Given the description of an element on the screen output the (x, y) to click on. 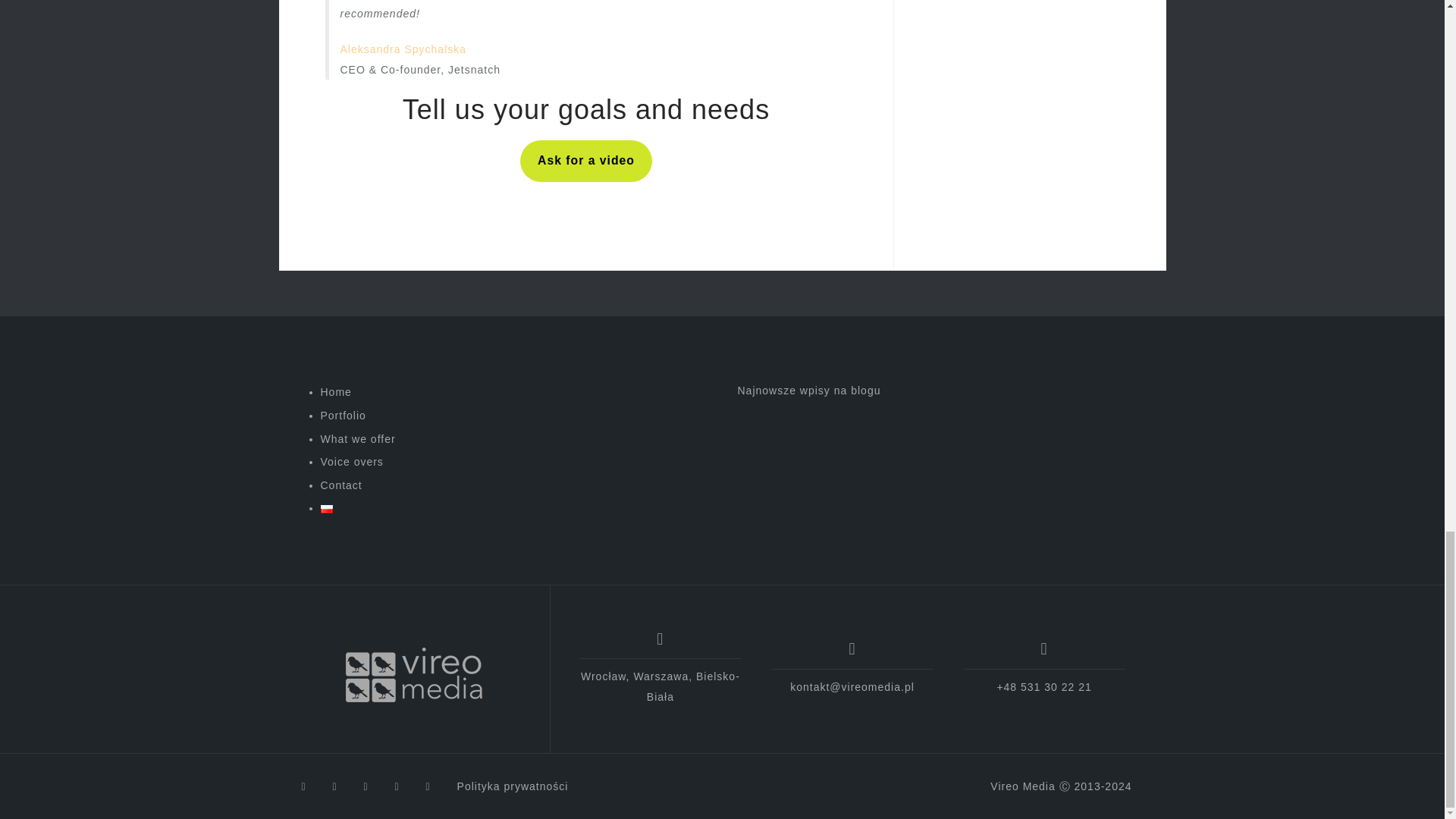
Aleksandra Spychalska (402, 49)
Home (335, 391)
Contact (340, 485)
Voice overs (351, 461)
What we offer (357, 439)
Ask for a video (585, 160)
Portfolio (342, 415)
Vireo Media (413, 674)
